Given the description of an element on the screen output the (x, y) to click on. 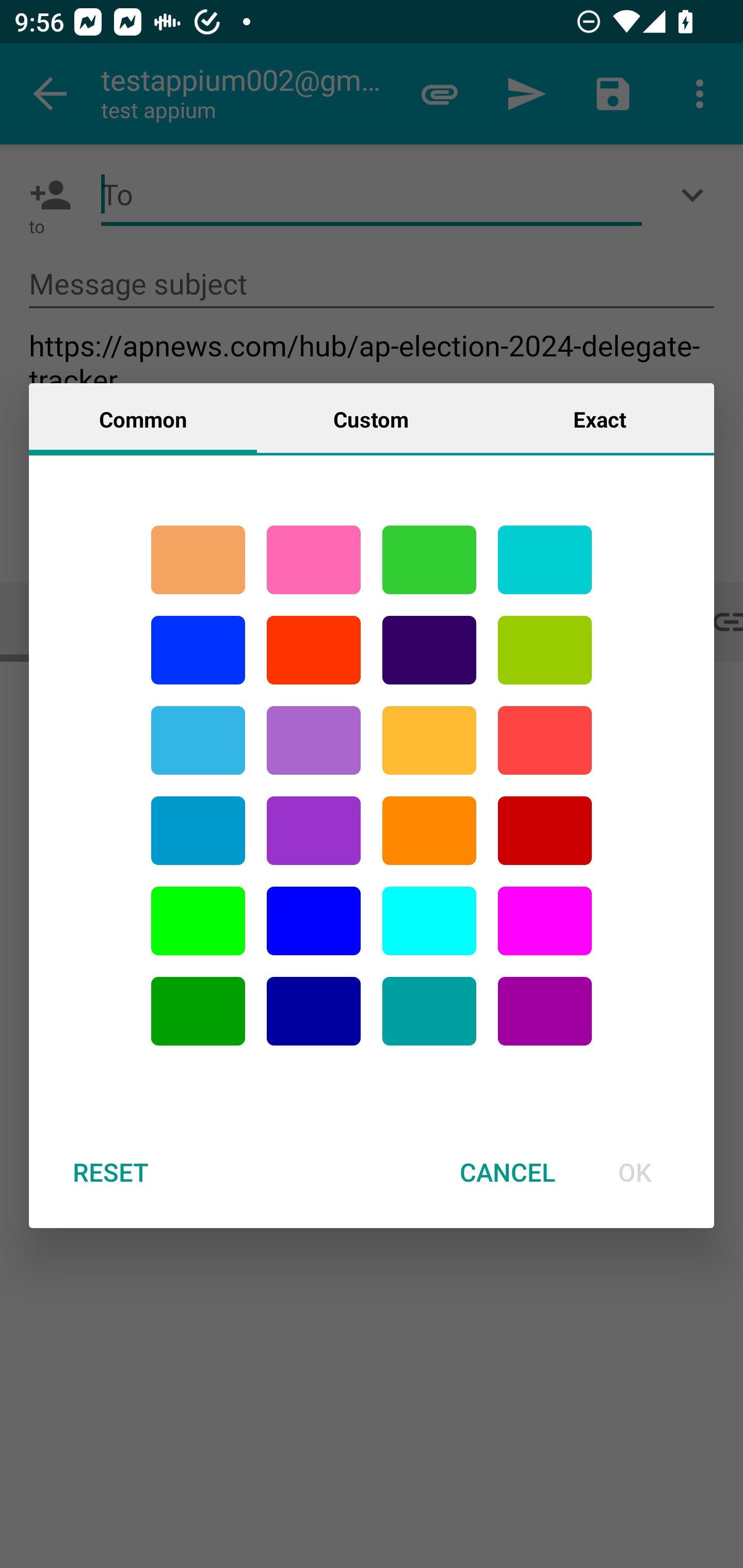
Common (142, 418)
Custom (371, 418)
Exact (599, 418)
Peach (197, 559)
Pink (313, 559)
Green (429, 559)
Cyan (544, 559)
Blue (197, 649)
Red (313, 649)
Dark purple (429, 649)
Light green (544, 649)
Cyan (197, 739)
Purple (313, 739)
Light orange (429, 739)
Light red (544, 739)
Dark cyan (197, 830)
Purple (313, 830)
Orange (429, 830)
Dark red (544, 830)
Light green (197, 920)
Blue (313, 920)
Light cyan (429, 920)
Light purple (544, 920)
Dark green (197, 1010)
Dark blue (313, 1010)
Cyan (429, 1010)
Purple (544, 1010)
RESET (110, 1171)
CANCEL (507, 1171)
OK (634, 1171)
